Given the description of an element on the screen output the (x, y) to click on. 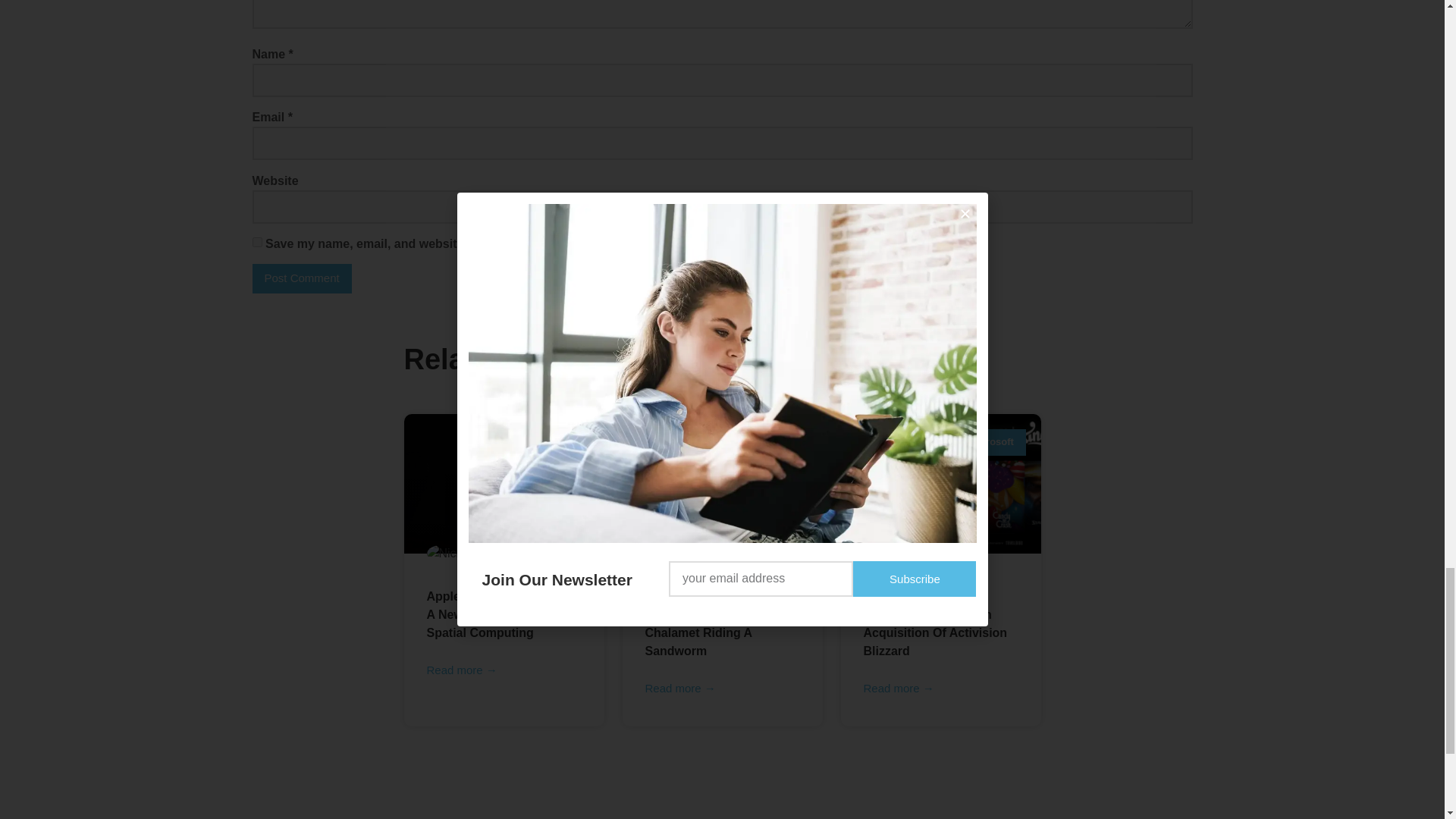
Post Comment (300, 278)
yes (256, 242)
Post Comment (300, 278)
